Given the description of an element on the screen output the (x, y) to click on. 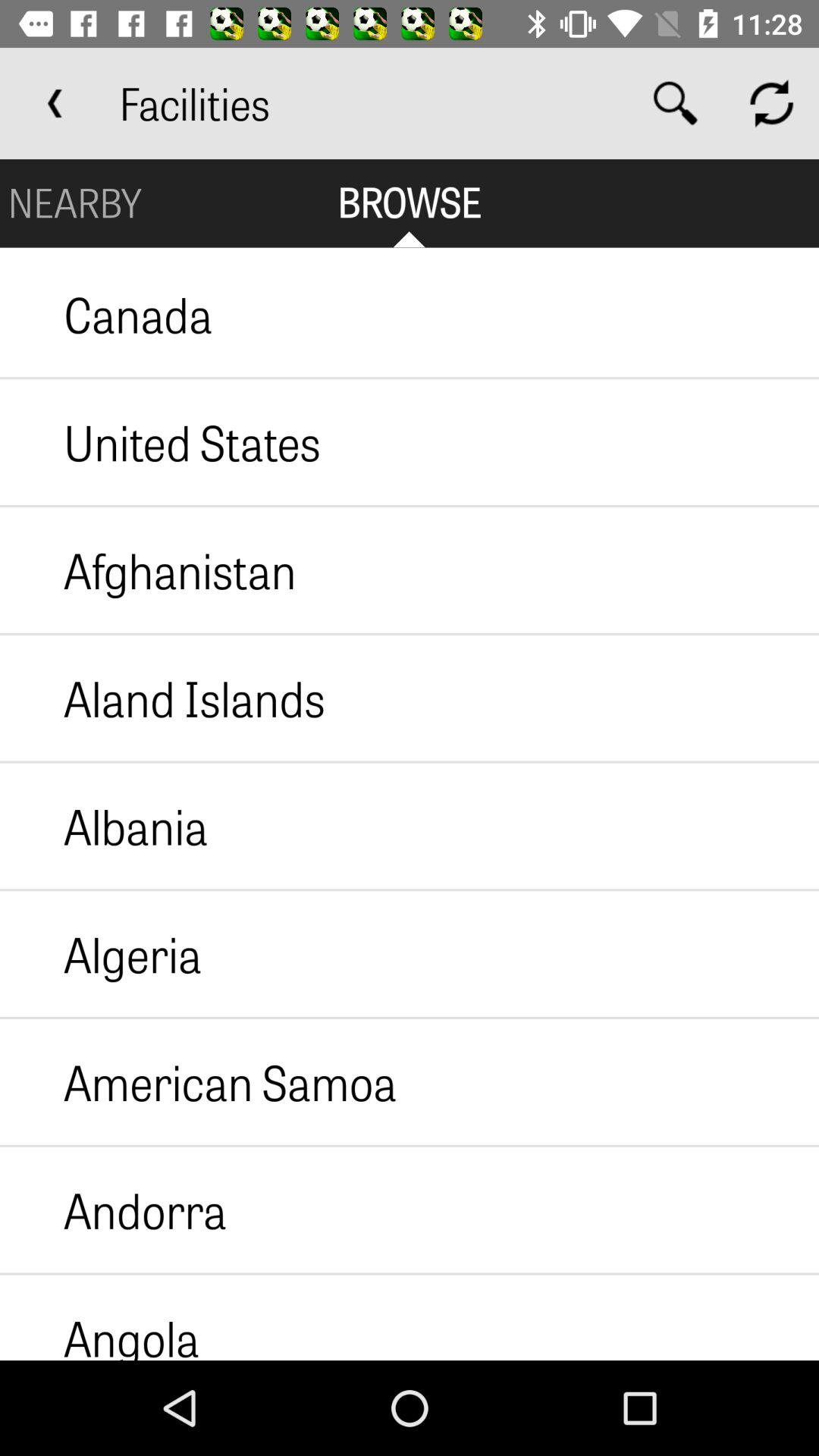
scroll to canada item (106, 314)
